Given the description of an element on the screen output the (x, y) to click on. 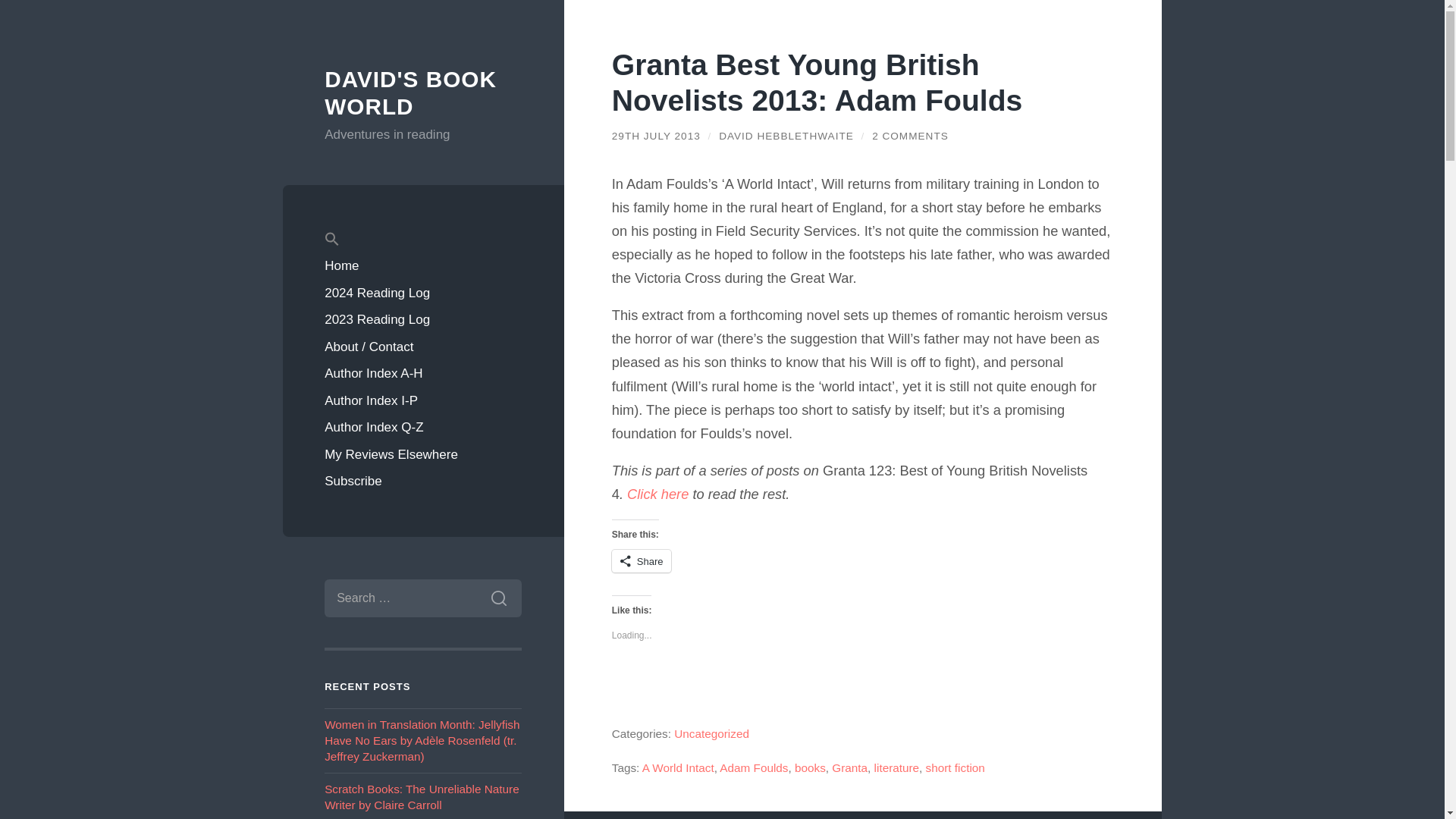
Search (498, 598)
Search (498, 598)
Author Index I-P (422, 400)
2023 Reading Log (422, 319)
Home (422, 266)
Author Index Q-Z (422, 427)
DAVID'S BOOK WORLD (410, 92)
Subscribe (422, 481)
Author Index A-H (422, 373)
